Given the description of an element on the screen output the (x, y) to click on. 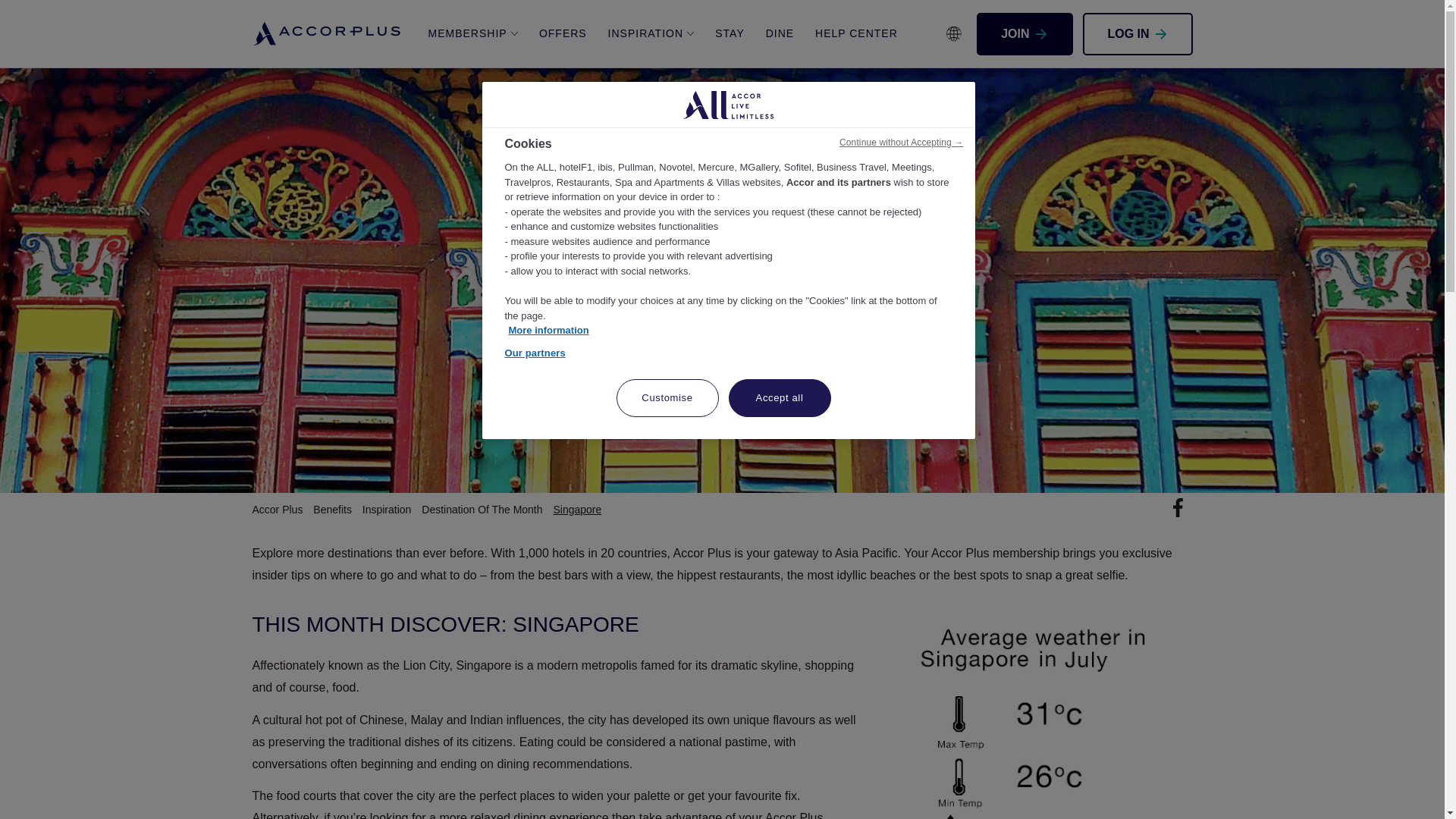
STAY (730, 33)
INSPIRATION (650, 33)
HELP CENTER (856, 33)
Accor Plus Hong Kong (327, 33)
MEMBERSHIP (473, 33)
DINE (780, 33)
LOG IN (1137, 33)
OFFERS (562, 33)
JOIN (1023, 33)
